Given the description of an element on the screen output the (x, y) to click on. 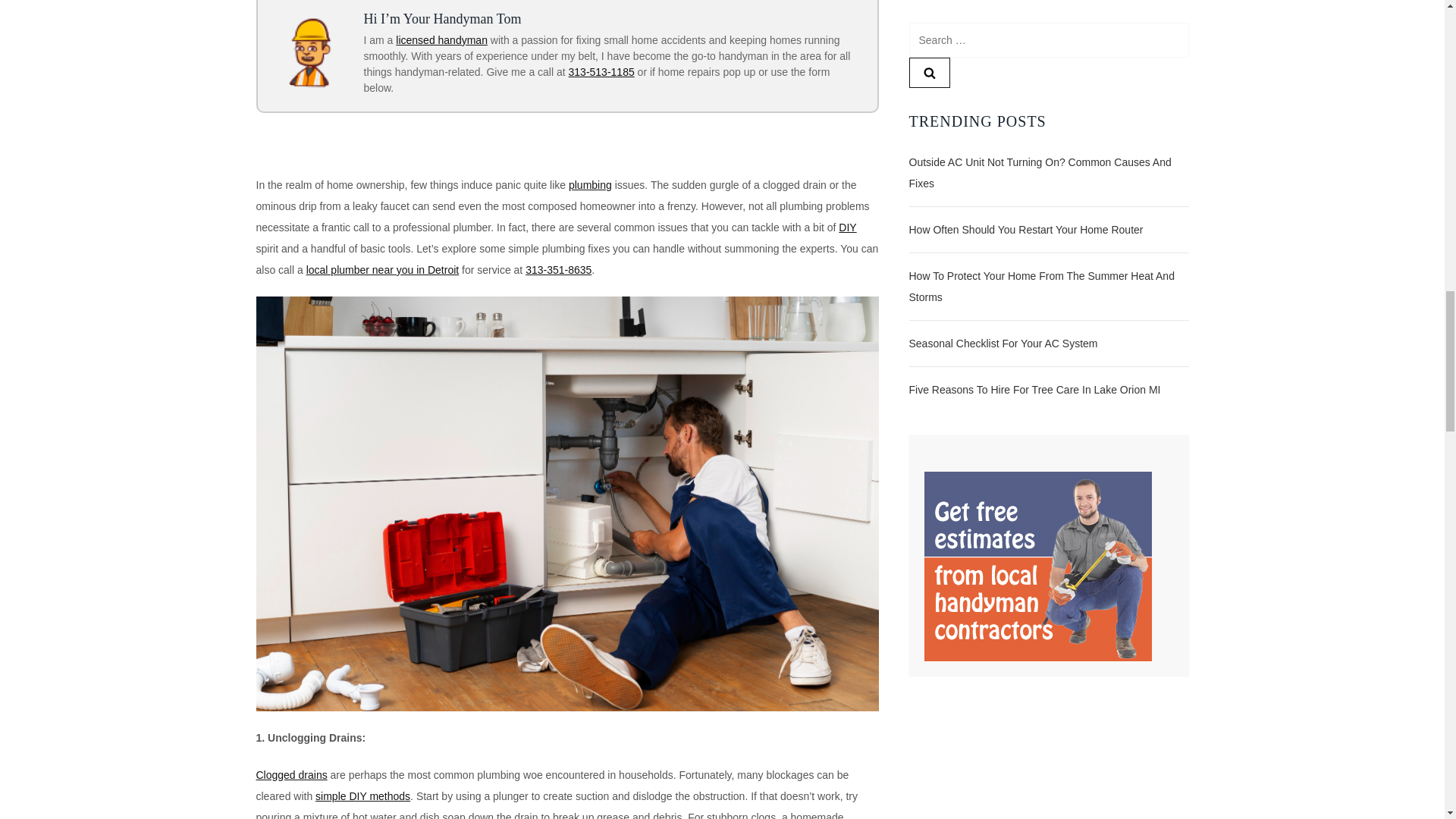
313-351-8635 (558, 269)
simple DIY methods (362, 796)
plumbing (590, 184)
DIY (847, 227)
Clogged drains (291, 775)
simple DIY methods (362, 796)
local plumber near you in Detroit (382, 269)
313-351-8635 (558, 269)
local plumber near you in Detroit (382, 269)
Clogged drains (291, 775)
licensed handyman (441, 39)
313-513-1185 (601, 71)
